Given the description of an element on the screen output the (x, y) to click on. 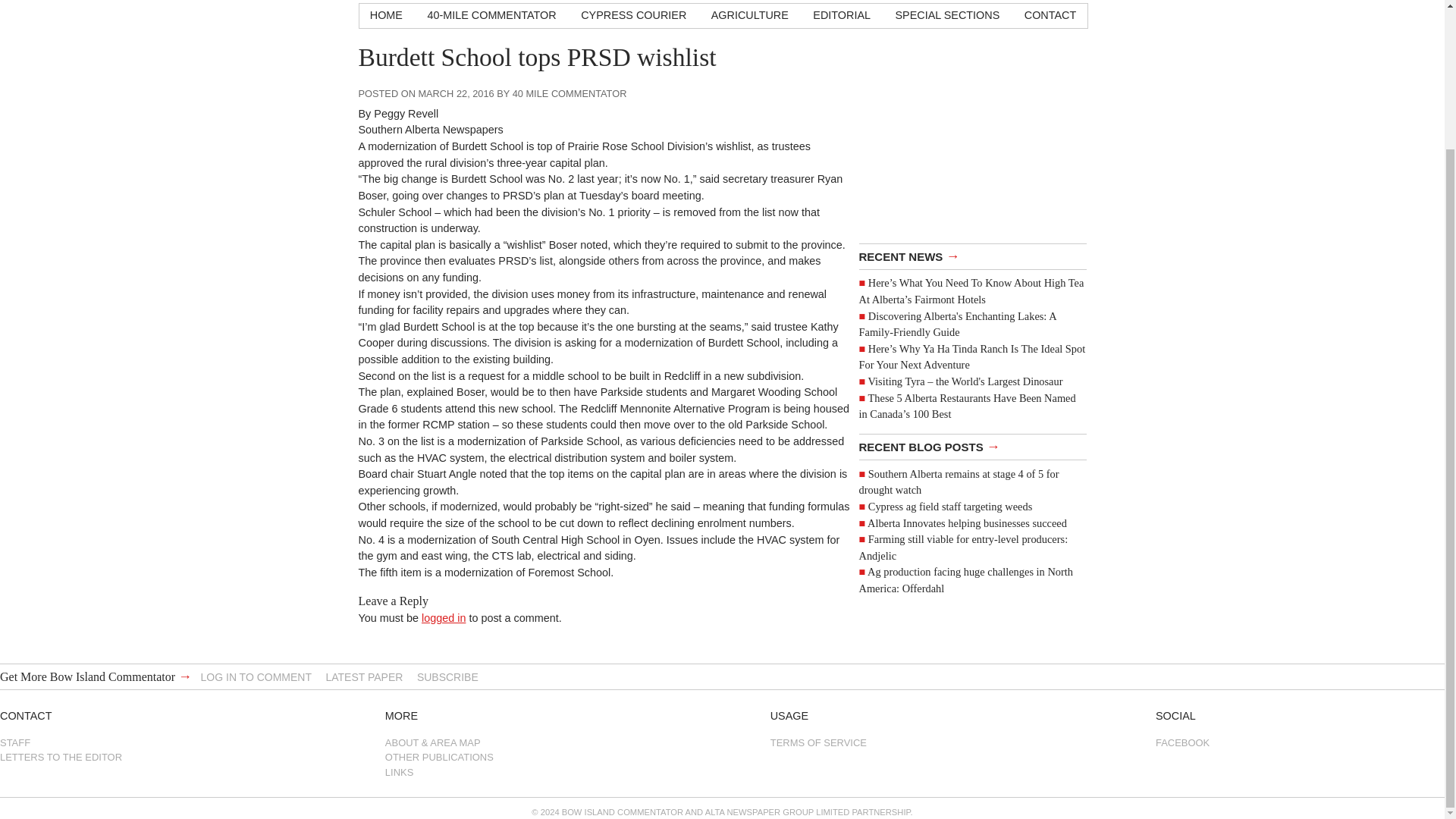
40-MILE COMMENTATOR (491, 15)
Farming still viable for entry-level producers: Andjelic (963, 547)
Alberta Innovates helping businesses succeed (967, 522)
SUBSCRIBE (447, 676)
LOG IN TO COMMENT (256, 676)
STAFF (144, 742)
CONTACT (1049, 15)
SPECIAL SECTIONS (946, 15)
EDITORIAL (841, 15)
Cypress ag field staff targeting weeds (949, 506)
